Given the description of an element on the screen output the (x, y) to click on. 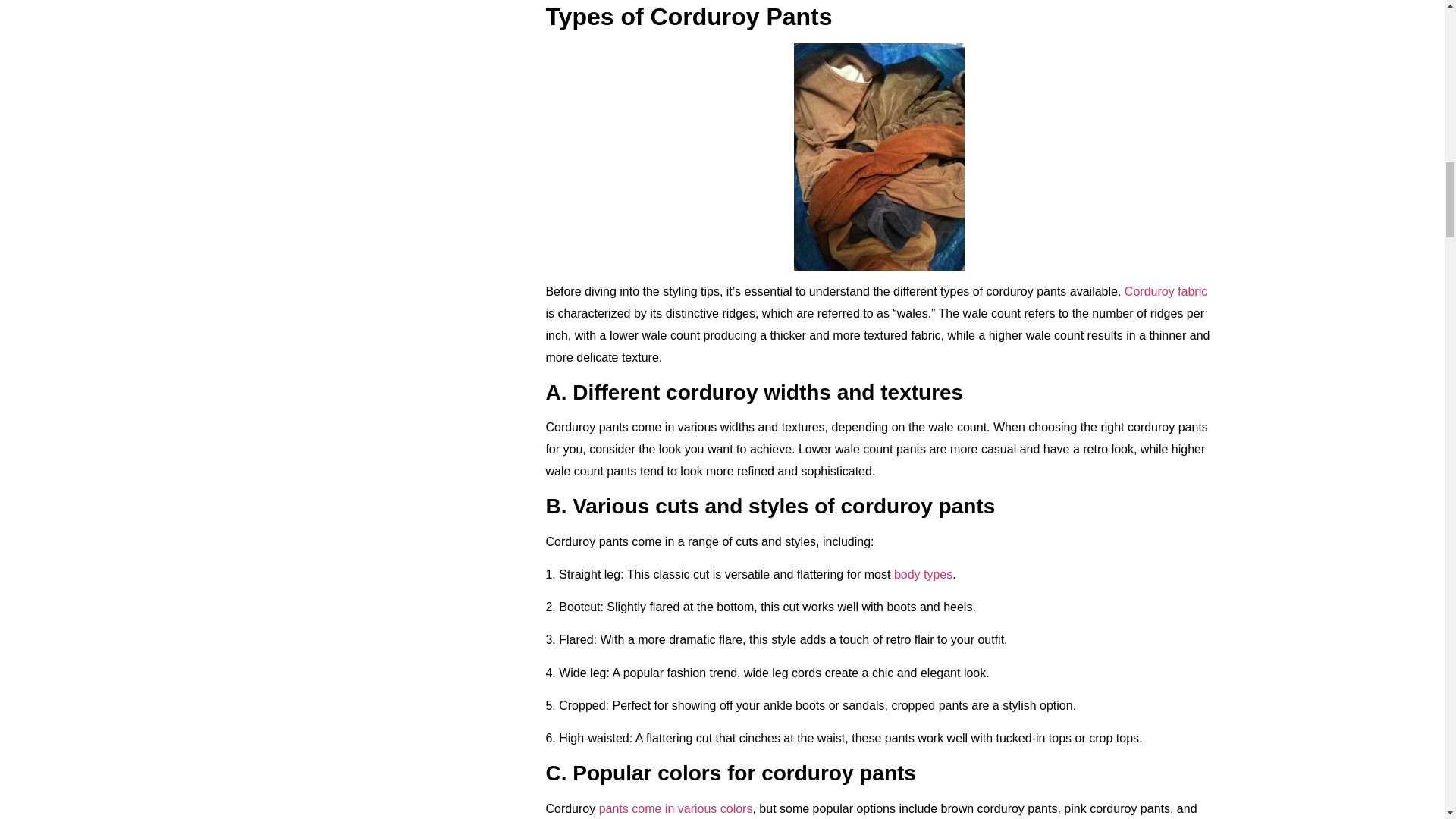
Corduroy fabric (1165, 291)
pants come in various colors (675, 808)
body types (922, 574)
